Given the description of an element on the screen output the (x, y) to click on. 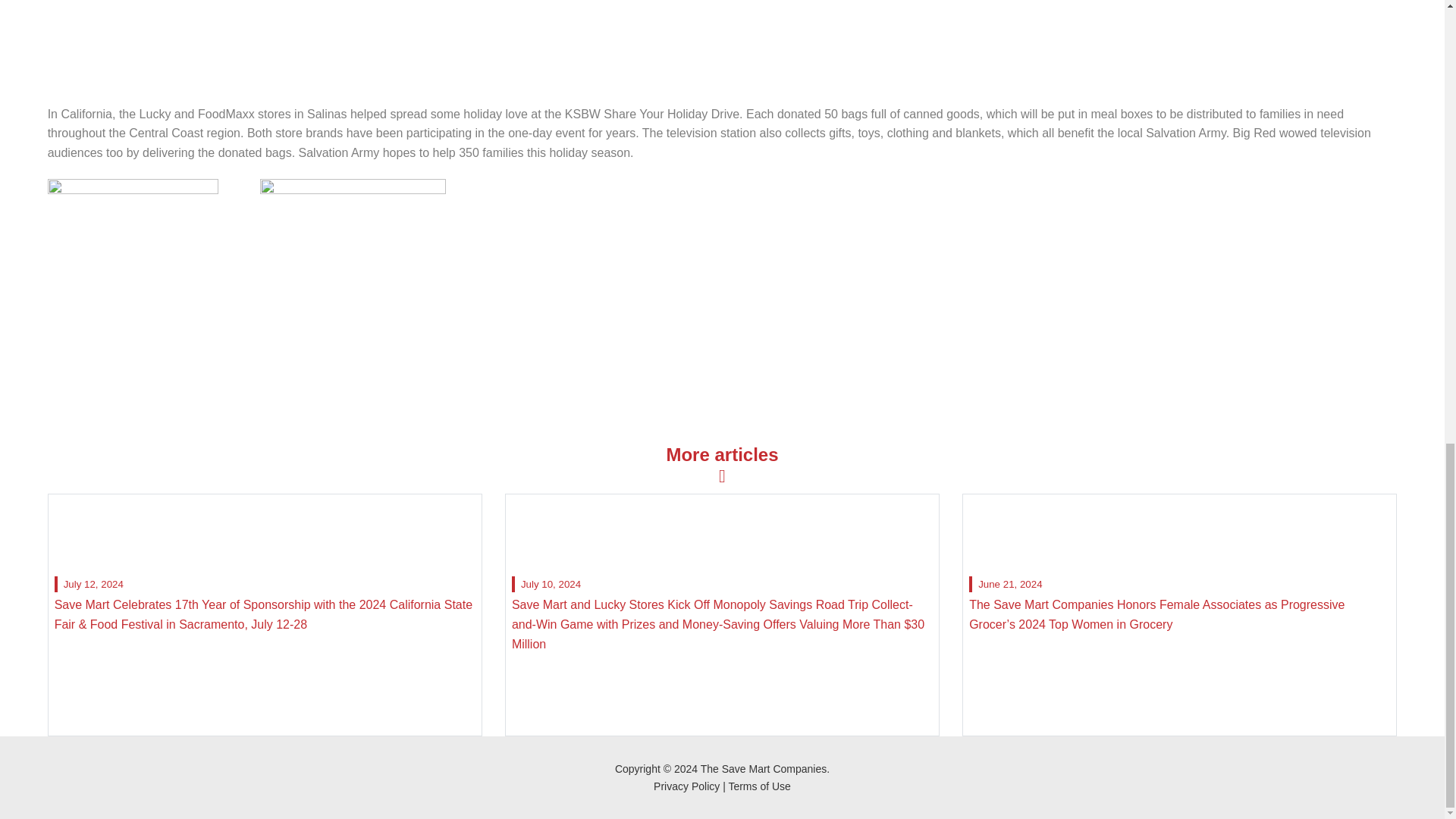
Terms of Use (759, 785)
Privacy Policy (686, 785)
